Given the description of an element on the screen output the (x, y) to click on. 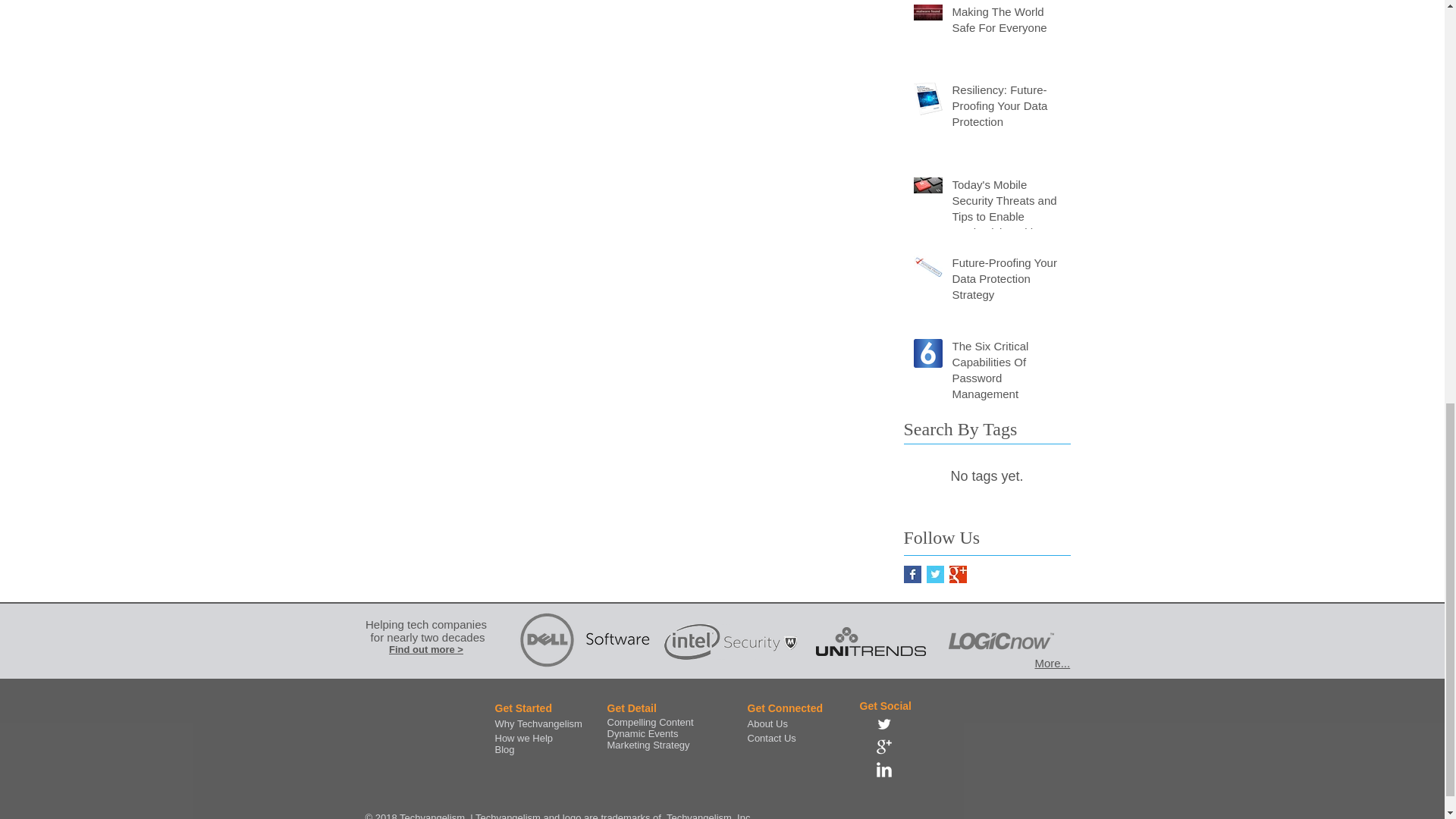
How we Help (524, 737)
Future-Proofing Your Data Protection Strategy (1006, 281)
Making The World Safe For Everyone (1006, 22)
Why Techvangelism (537, 723)
Compelling Content (650, 722)
Blog (504, 749)
Resiliency: Future-Proofing Your Data Protection (1006, 108)
Dynamic Events (642, 733)
Dell Software Logo BW.png (585, 641)
More... (1051, 662)
The Six Critical Capabilities Of Password Management (1006, 372)
Unitrends Logo BW.png (870, 641)
Marketing Strategy (647, 745)
LogicNow logo BW.png (999, 641)
